Given the description of an element on the screen output the (x, y) to click on. 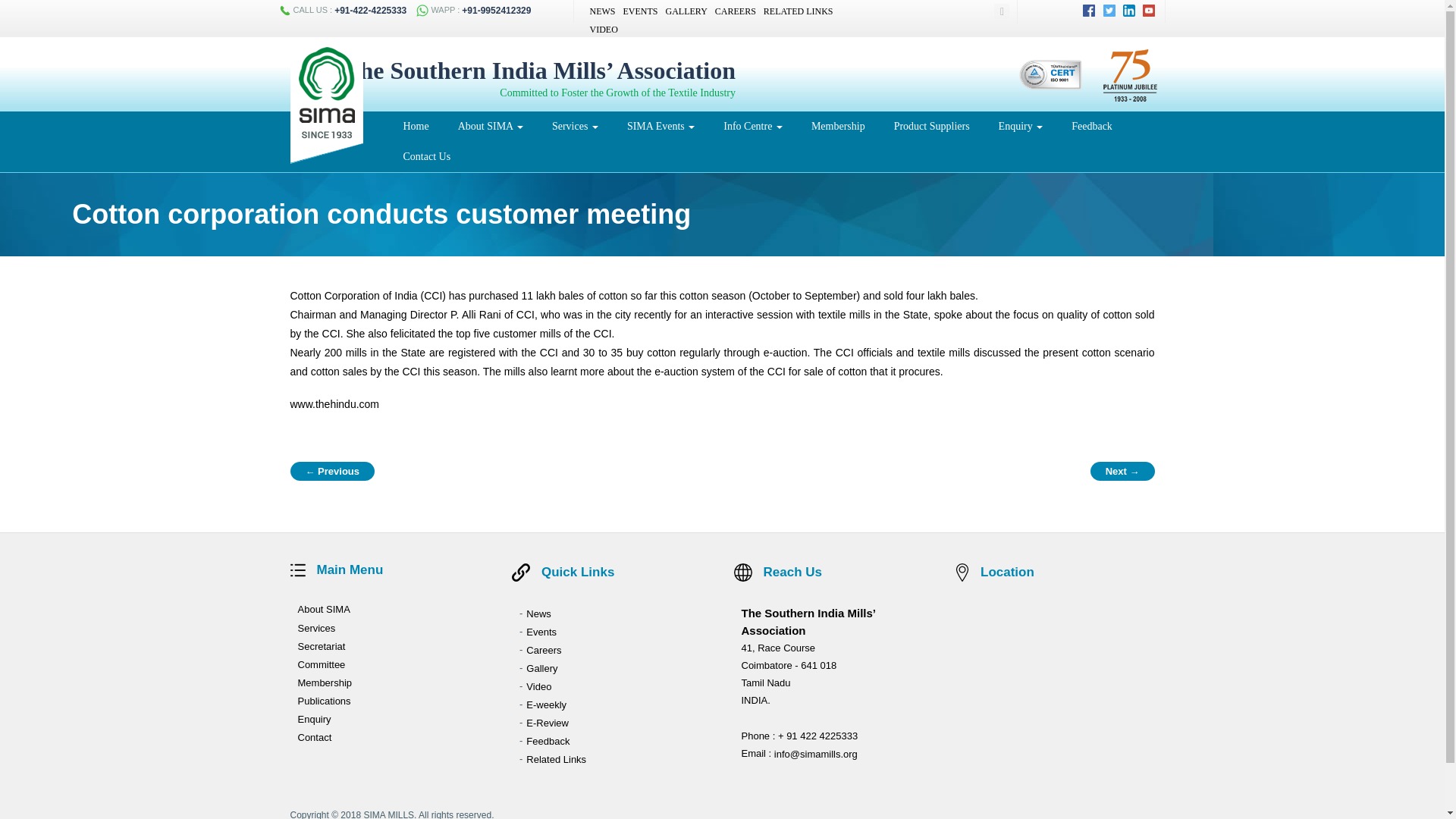
Submit (986, 11)
Services (574, 126)
Services (574, 126)
EVENTS (640, 10)
About SIMA (490, 126)
Search here... (993, 11)
NEWS (601, 10)
SIMA Events (660, 126)
CAREERS (734, 10)
Info Centre (752, 126)
